Given the description of an element on the screen output the (x, y) to click on. 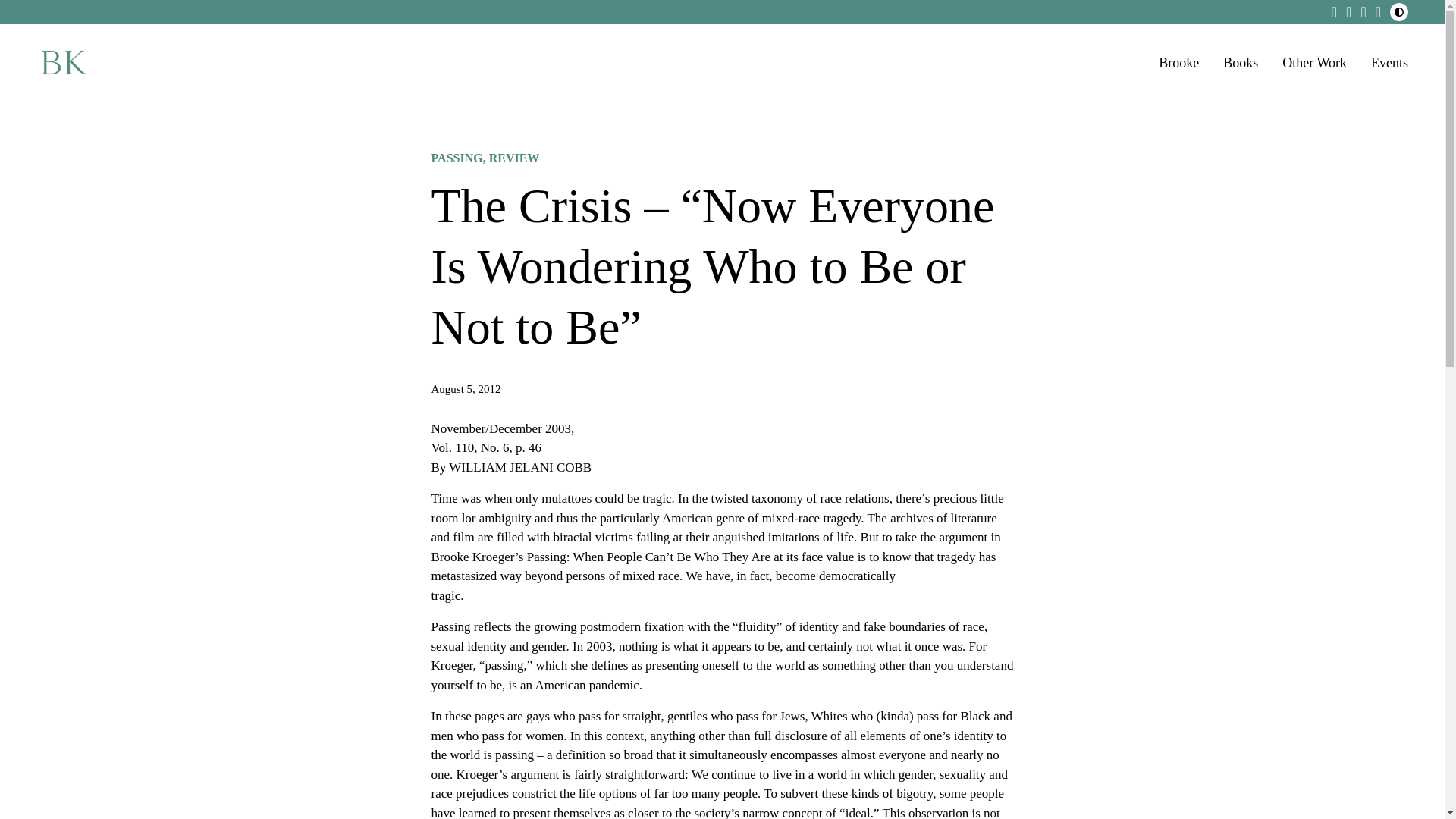
Other Work (1314, 63)
Brooke Kroeger (62, 62)
Brooke (1178, 63)
Toggle High Contrast Mode (1398, 12)
Events (1389, 63)
Toggle High Contrast Mode (1398, 12)
